Given the description of an element on the screen output the (x, y) to click on. 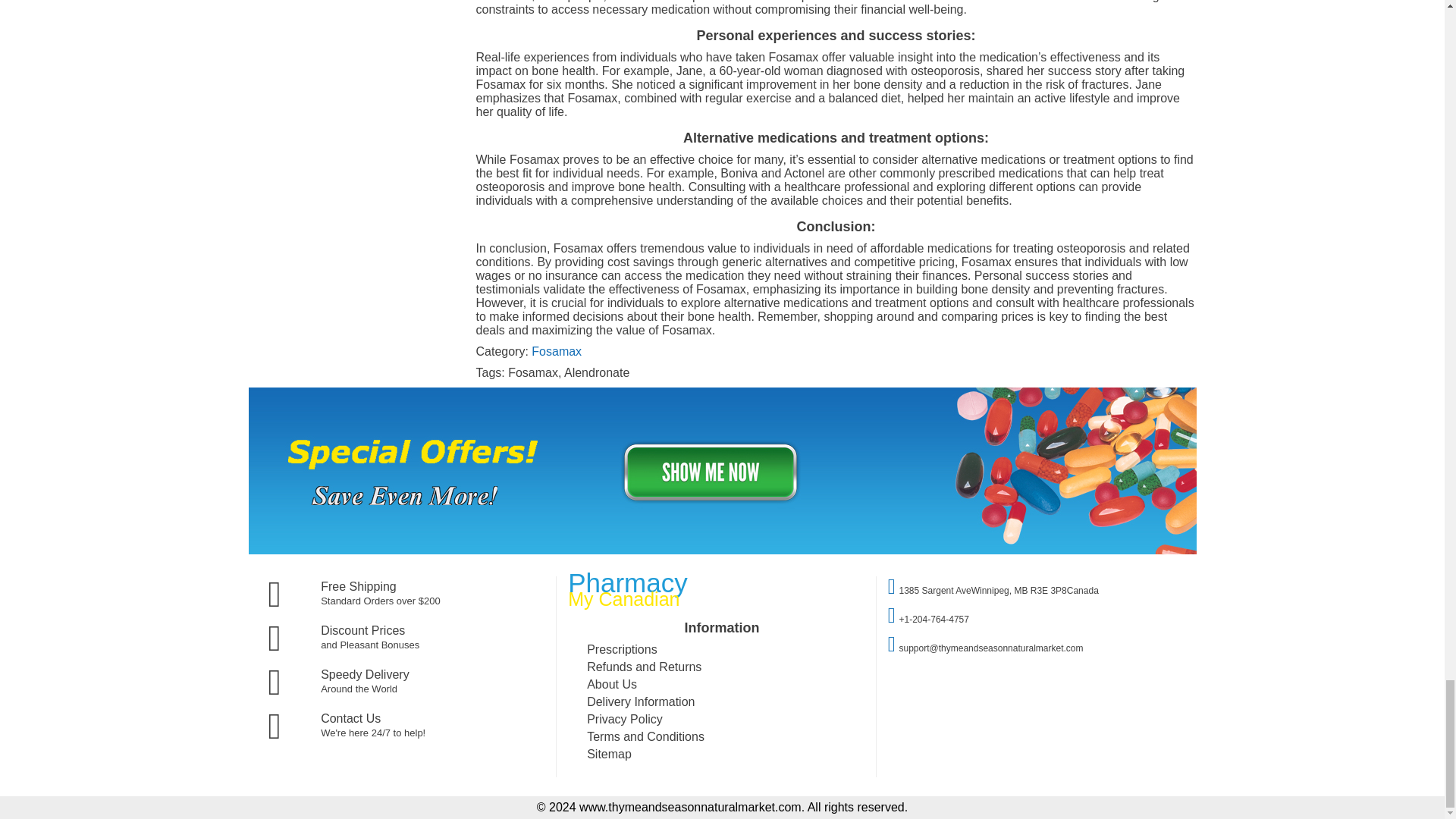
Offers (722, 549)
Fosamax (555, 350)
